Given the description of an element on the screen output the (x, y) to click on. 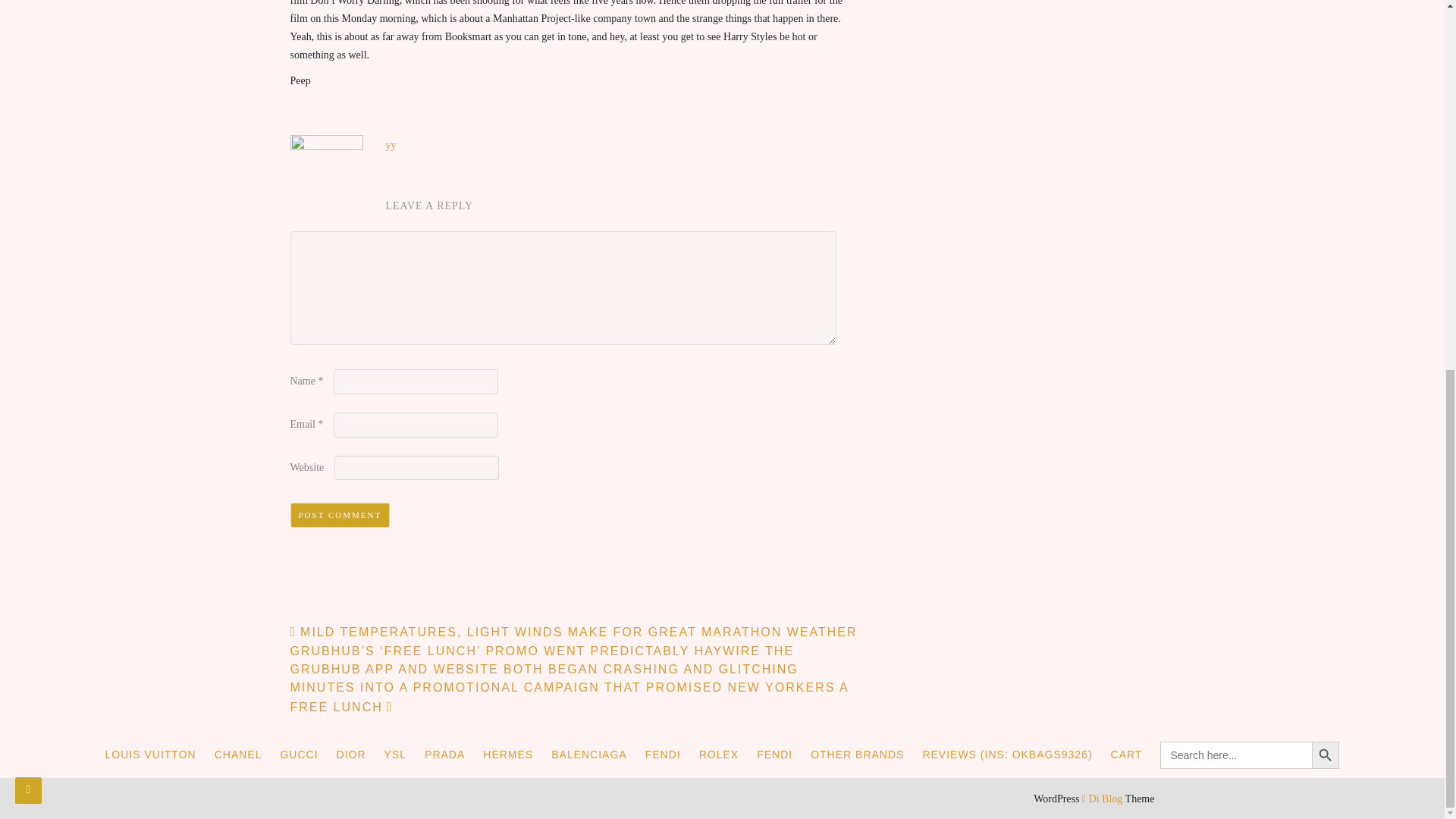
Posts by yy (390, 144)
Post Comment (339, 514)
